Given the description of an element on the screen output the (x, y) to click on. 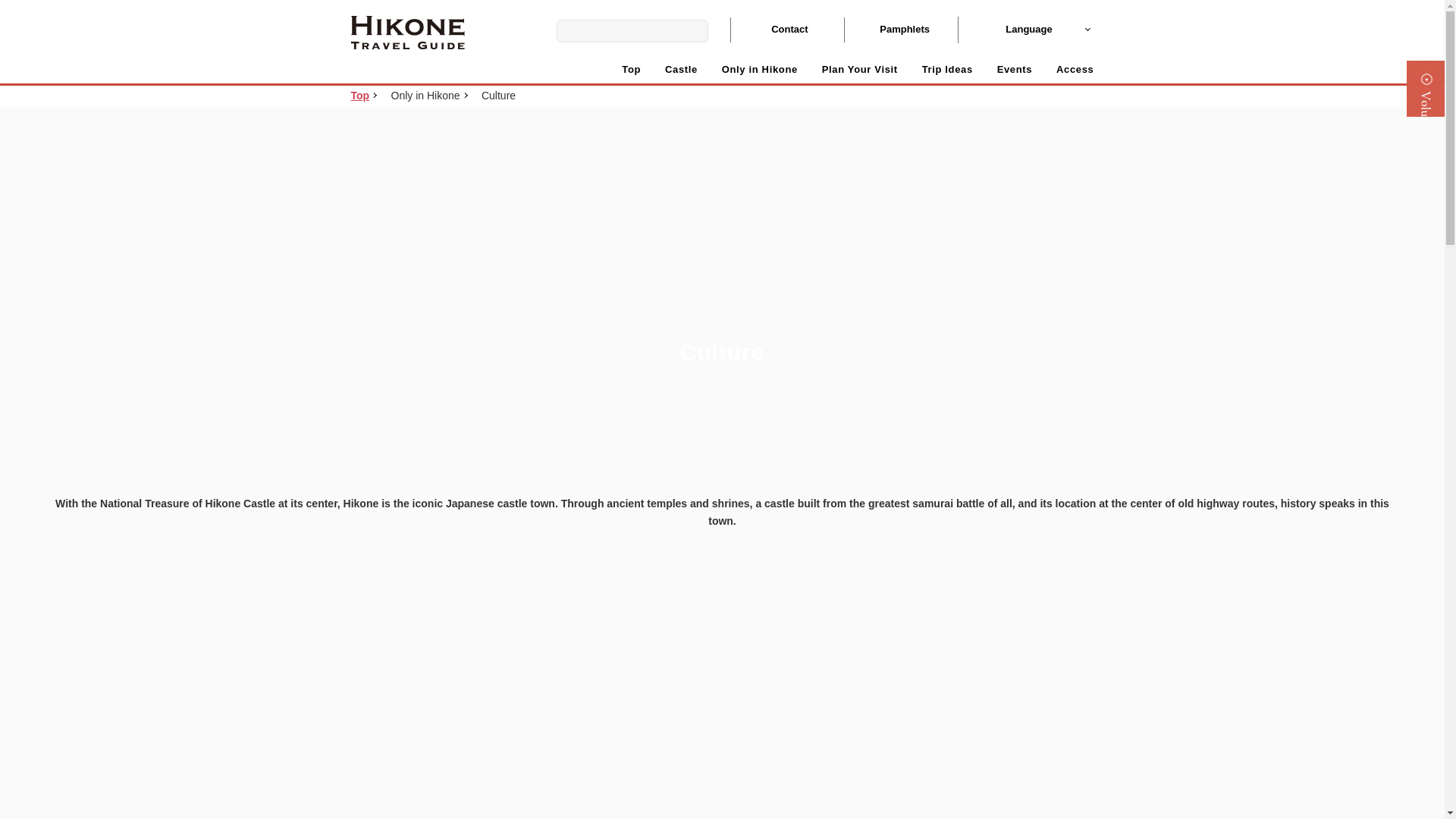
Top (630, 69)
Pamphlets (899, 29)
Language (1024, 29)
Events (1014, 69)
Top (359, 95)
Access (1075, 69)
Contact (786, 29)
Plan Your Visit (860, 69)
Trip Ideas (946, 69)
